Given the description of an element on the screen output the (x, y) to click on. 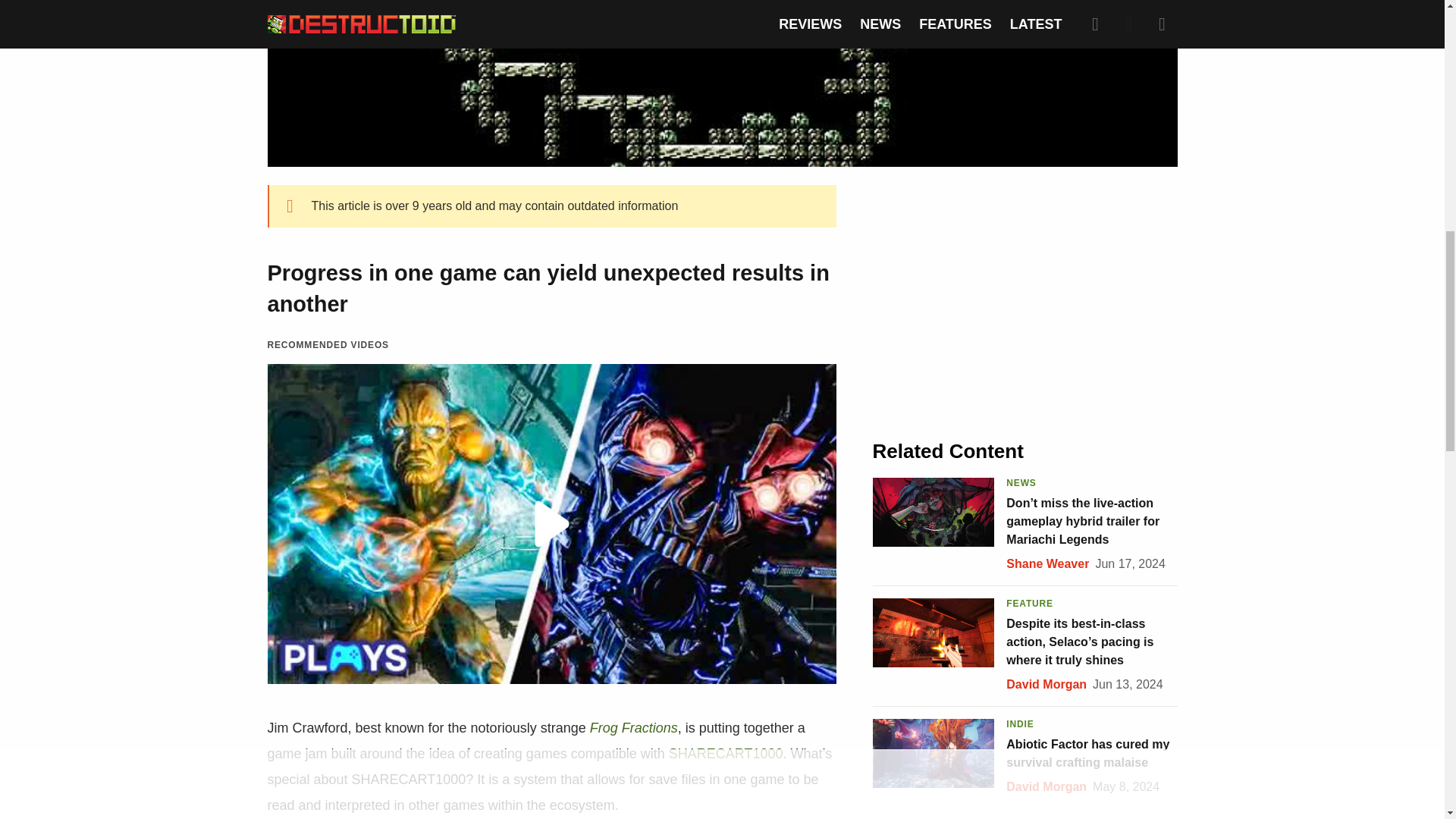
3rd party ad content (1024, 298)
